Given the description of an element on the screen output the (x, y) to click on. 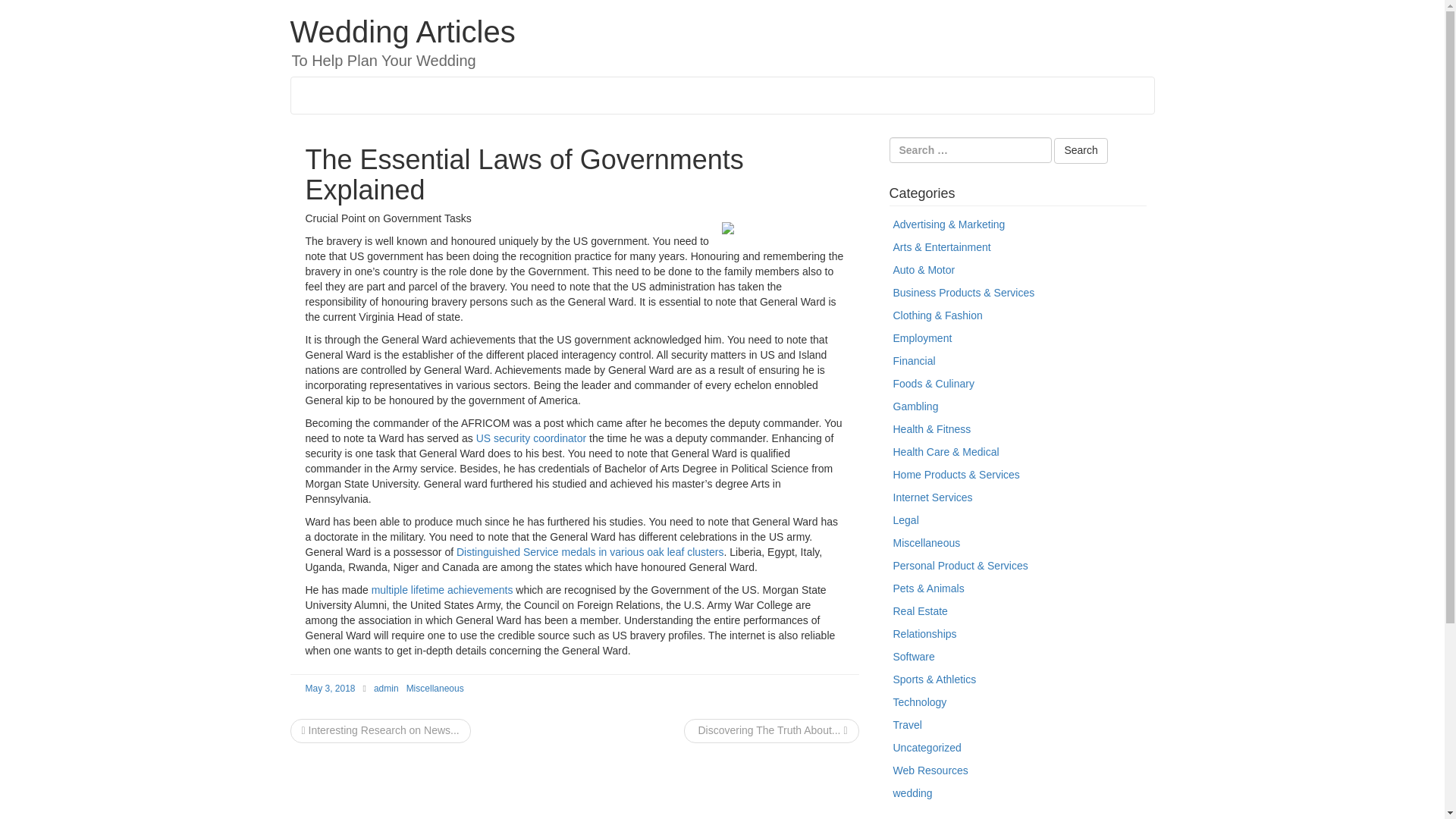
Search (1080, 150)
Travel (907, 725)
Search (1080, 150)
Real Estate (920, 611)
Miscellaneous (435, 688)
Software (913, 656)
Legal (905, 520)
Gambling (916, 406)
Wedding Articles (402, 31)
Search (1080, 150)
